Given the description of an element on the screen output the (x, y) to click on. 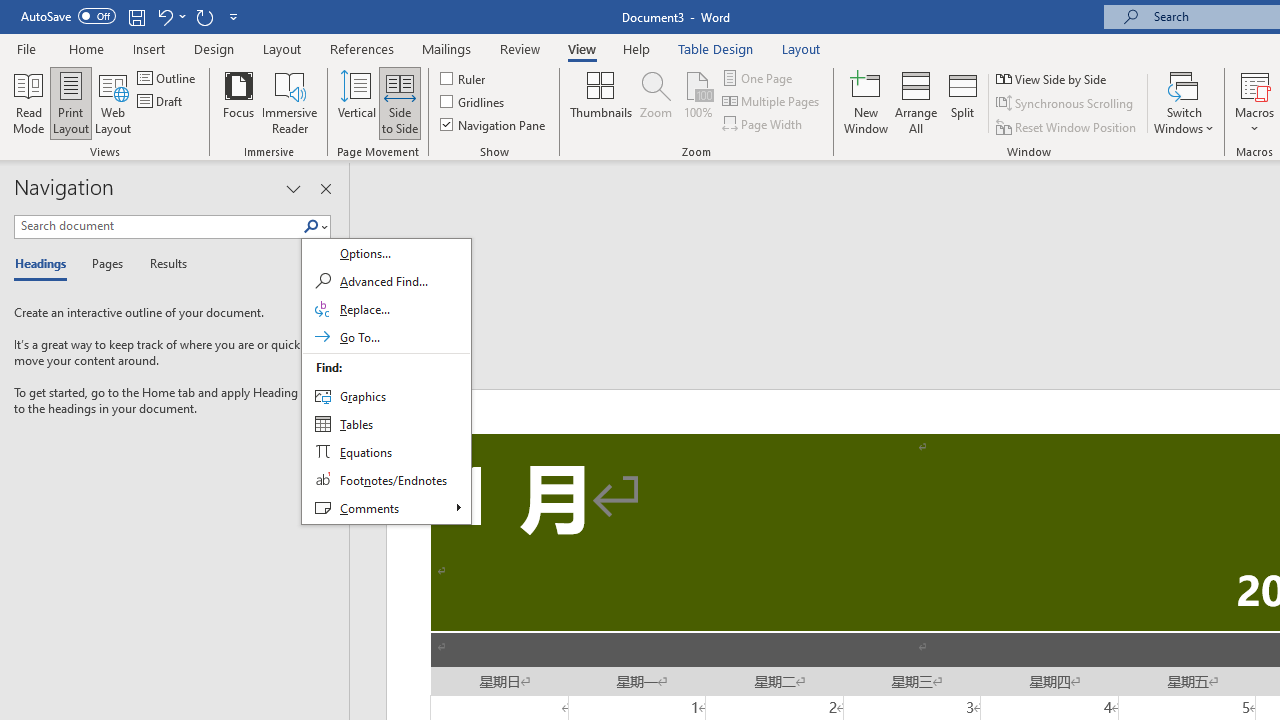
Table Design (715, 48)
Arrange All (916, 102)
Class: NetUIImage (311, 226)
Ruler (463, 78)
Help (637, 48)
Vertical (356, 102)
One Page (758, 78)
Split (963, 102)
Side to Side (399, 102)
Close pane (325, 188)
References (362, 48)
Macros (1254, 102)
Print Layout (70, 102)
Search (311, 227)
